Given the description of an element on the screen output the (x, y) to click on. 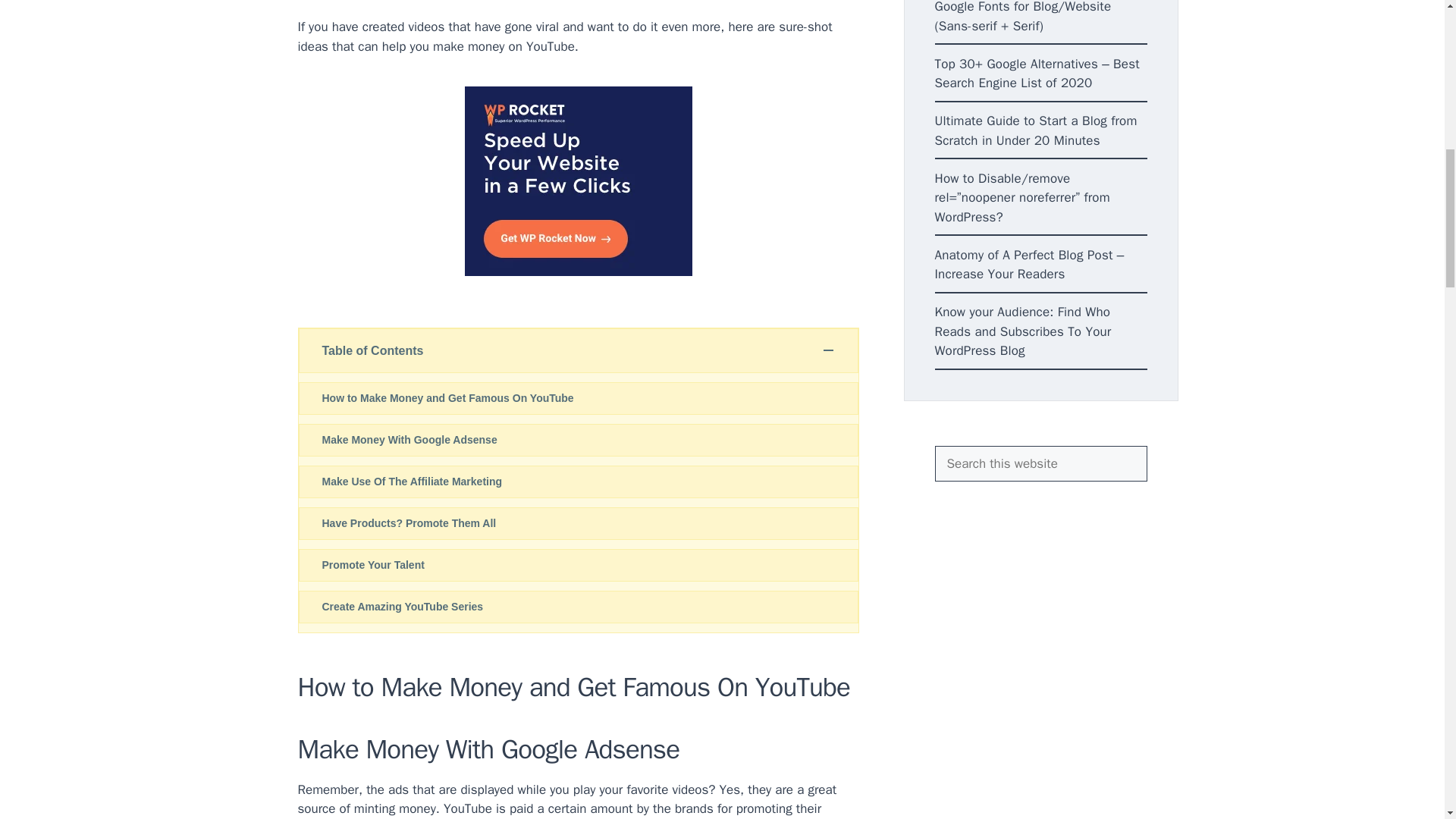
Make WordPress Blazing FAST! Get WP Rocket! (577, 271)
Have Products? Promote Them All (578, 522)
Promote Your Talent (578, 564)
How to Make Money and Get Famous On YouTube (578, 398)
Make WordPress Blazing FAST! Get WP Rocket! (577, 181)
Make Money With Google Adsense (578, 440)
Make Use Of The Affiliate Marketing (578, 481)
Create Amazing YouTube Series (578, 606)
